Given the description of an element on the screen output the (x, y) to click on. 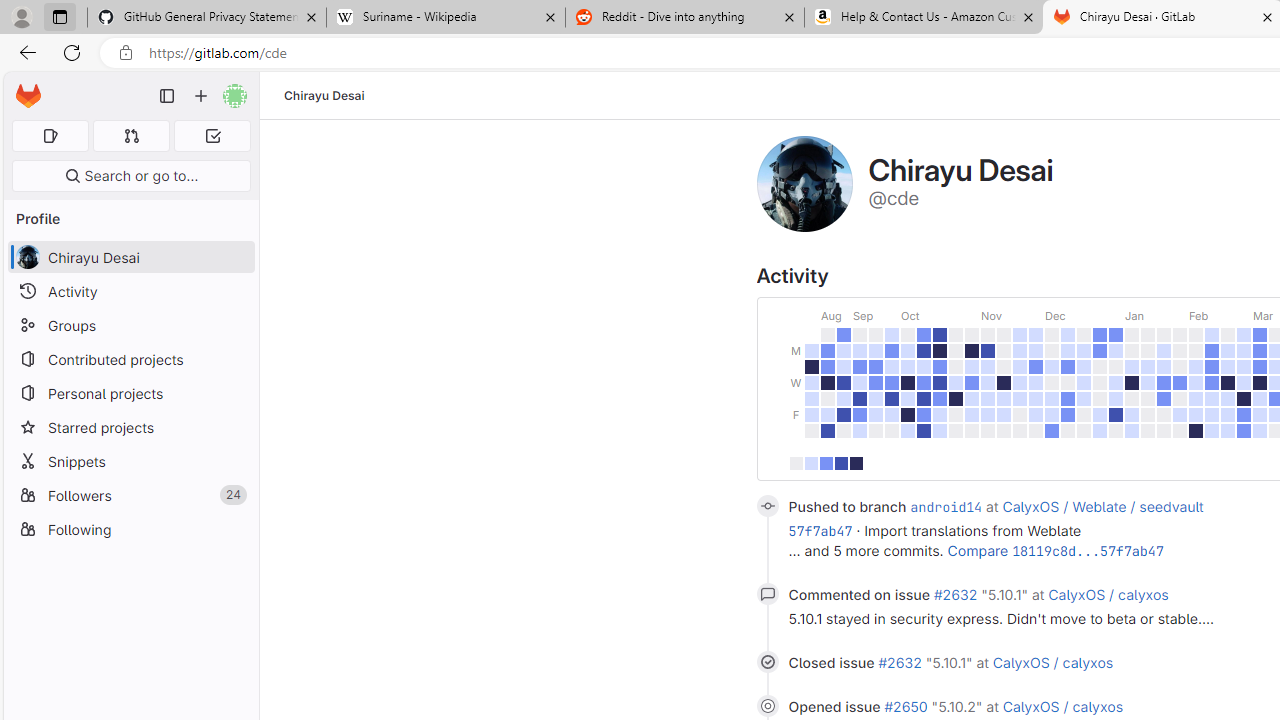
Homepage (27, 96)
